Given the description of an element on the screen output the (x, y) to click on. 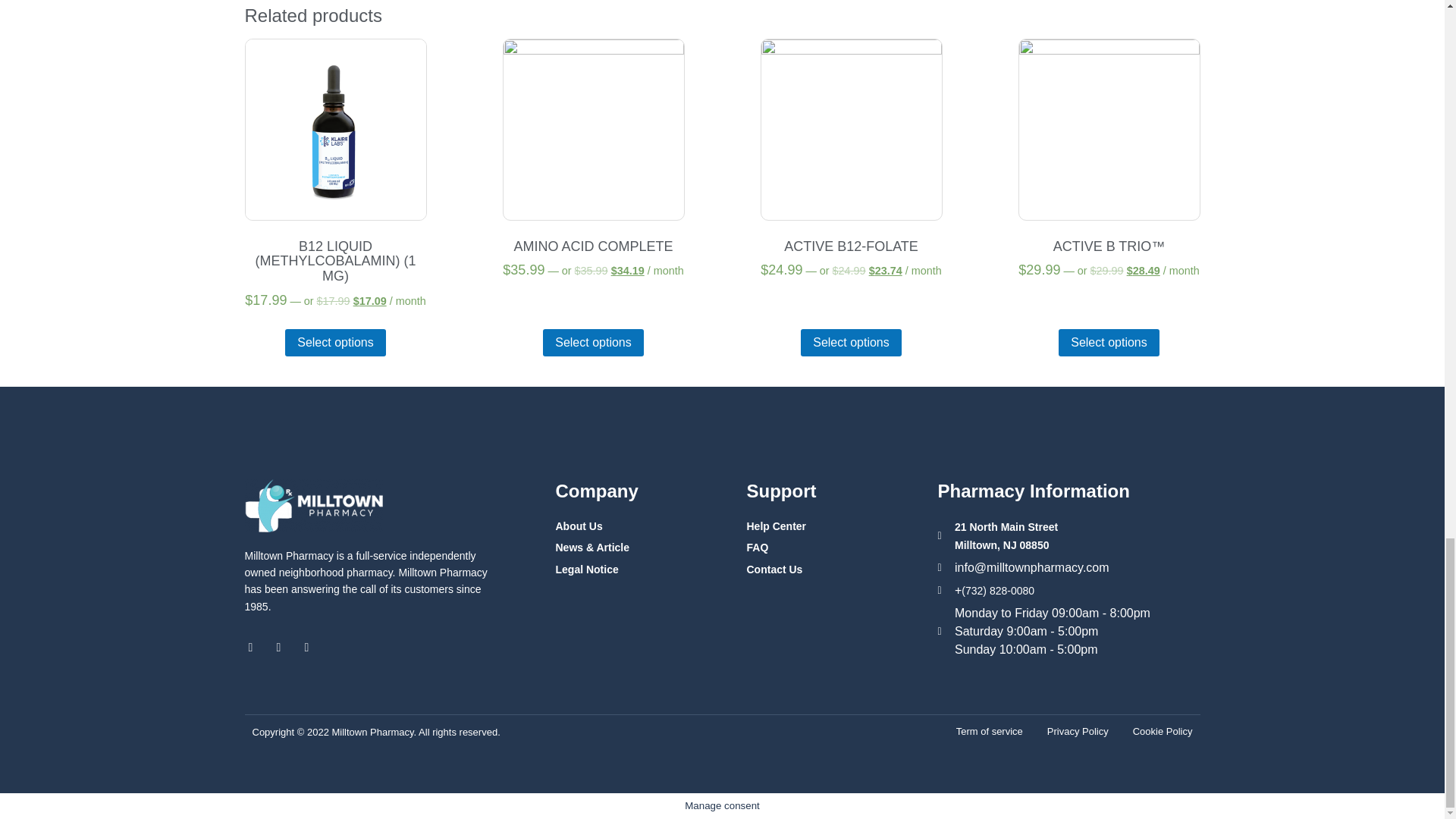
logofoor (312, 505)
